Given the description of an element on the screen output the (x, y) to click on. 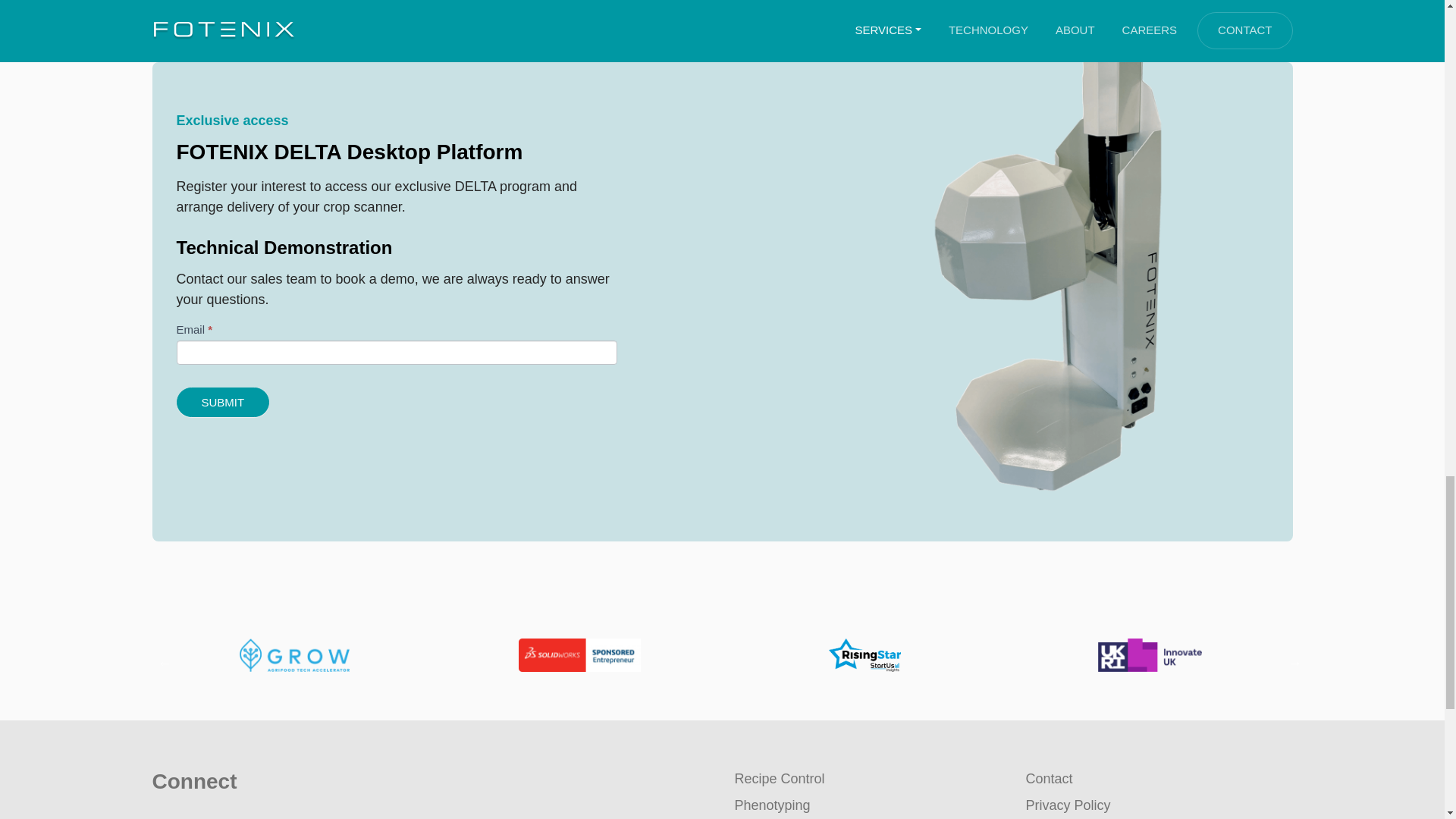
SOLIDWORKS Sponsored Entrepreneur (579, 654)
UKRI Innovate UK (1149, 654)
Phenotyping (771, 805)
PREVIOUS (157, 654)
NEXT (1287, 654)
SUBMIT (222, 401)
AWS Activate (75, 654)
GROW (293, 654)
StartUs Insights Award (864, 654)
Recipe Control (778, 778)
